Given the description of an element on the screen output the (x, y) to click on. 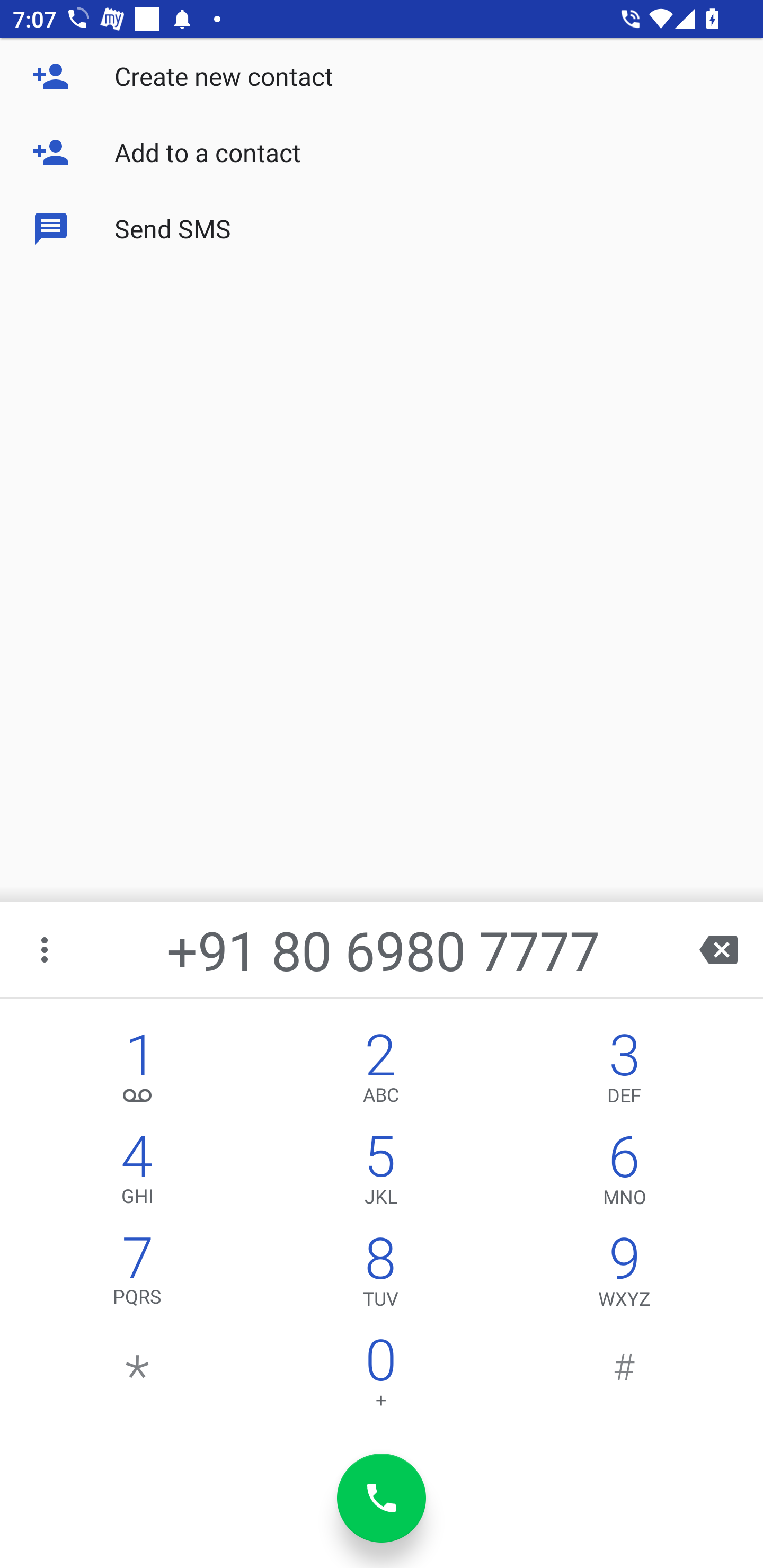
Create new contact (381, 75)
Add to a contact (381, 152)
Send SMS (381, 228)
+91 80 6980 7777 (382, 949)
backspace (718, 949)
More options (45, 949)
1, 1 (137, 1071)
2,ABC 2 ABC (380, 1071)
3,DEF 3 DEF (624, 1071)
4,GHI 4 GHI (137, 1173)
5,JKL 5 JKL (380, 1173)
6,MNO 6 MNO (624, 1173)
7,PQRS 7 PQRS (137, 1275)
8,TUV 8 TUV (380, 1275)
9,WXYZ 9 WXYZ (624, 1275)
* (137, 1377)
0 0 + (380, 1377)
# (624, 1377)
dial (381, 1497)
